Given the description of an element on the screen output the (x, y) to click on. 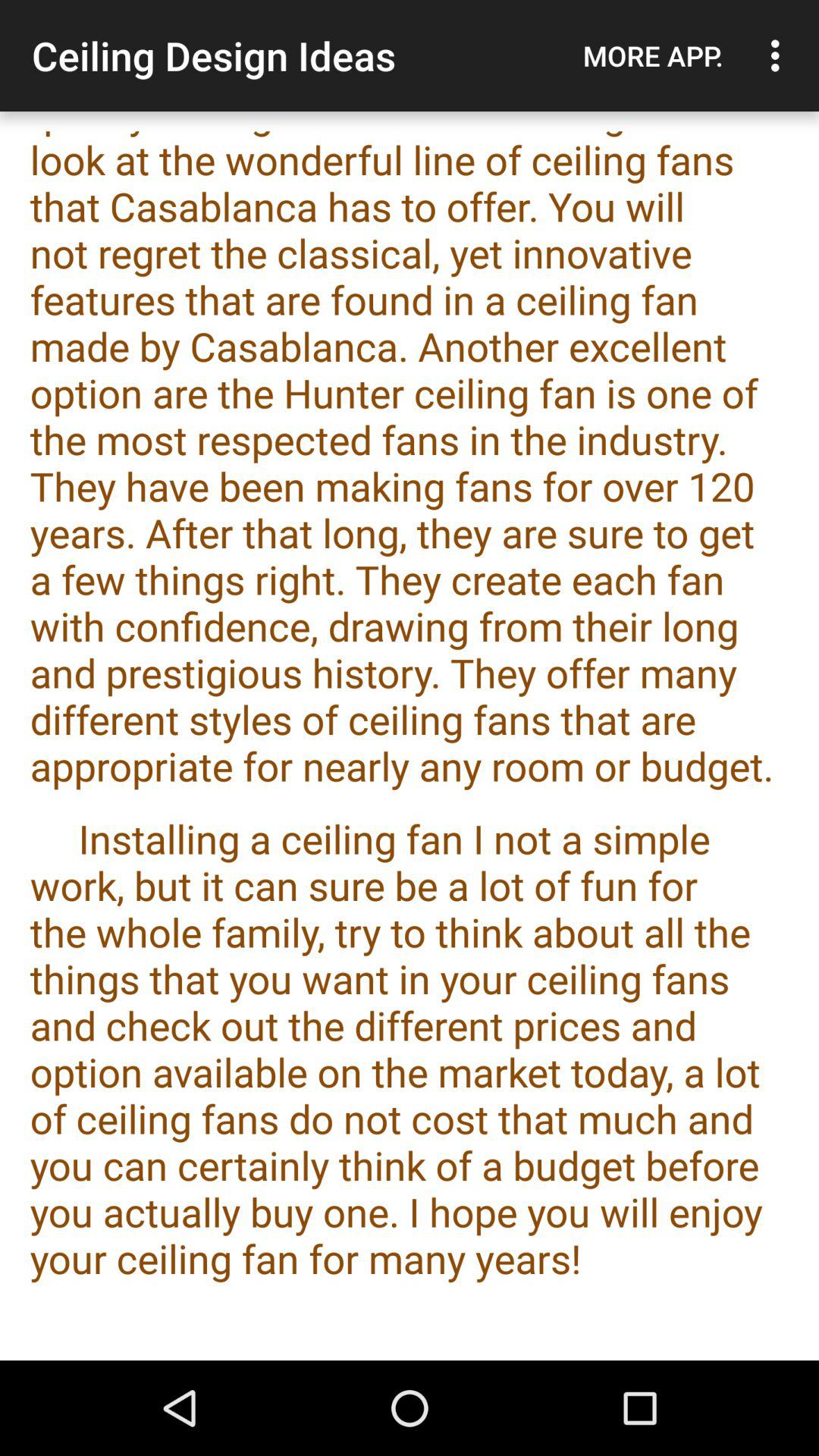
turn on the item to the right of the more app. (779, 55)
